Given the description of an element on the screen output the (x, y) to click on. 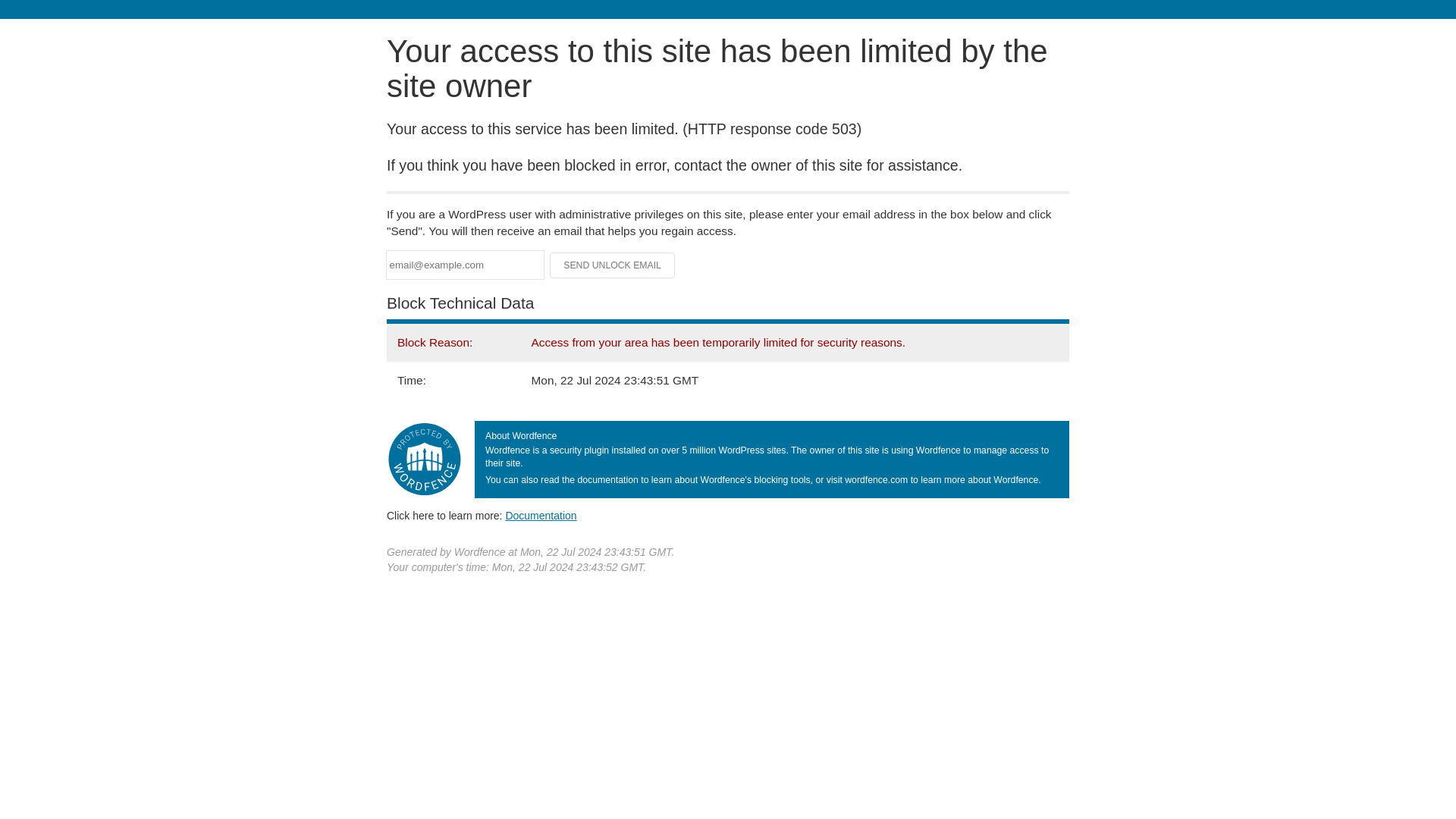
Documentation (540, 515)
Send Unlock Email (612, 265)
Send Unlock Email (612, 265)
